Given the description of an element on the screen output the (x, y) to click on. 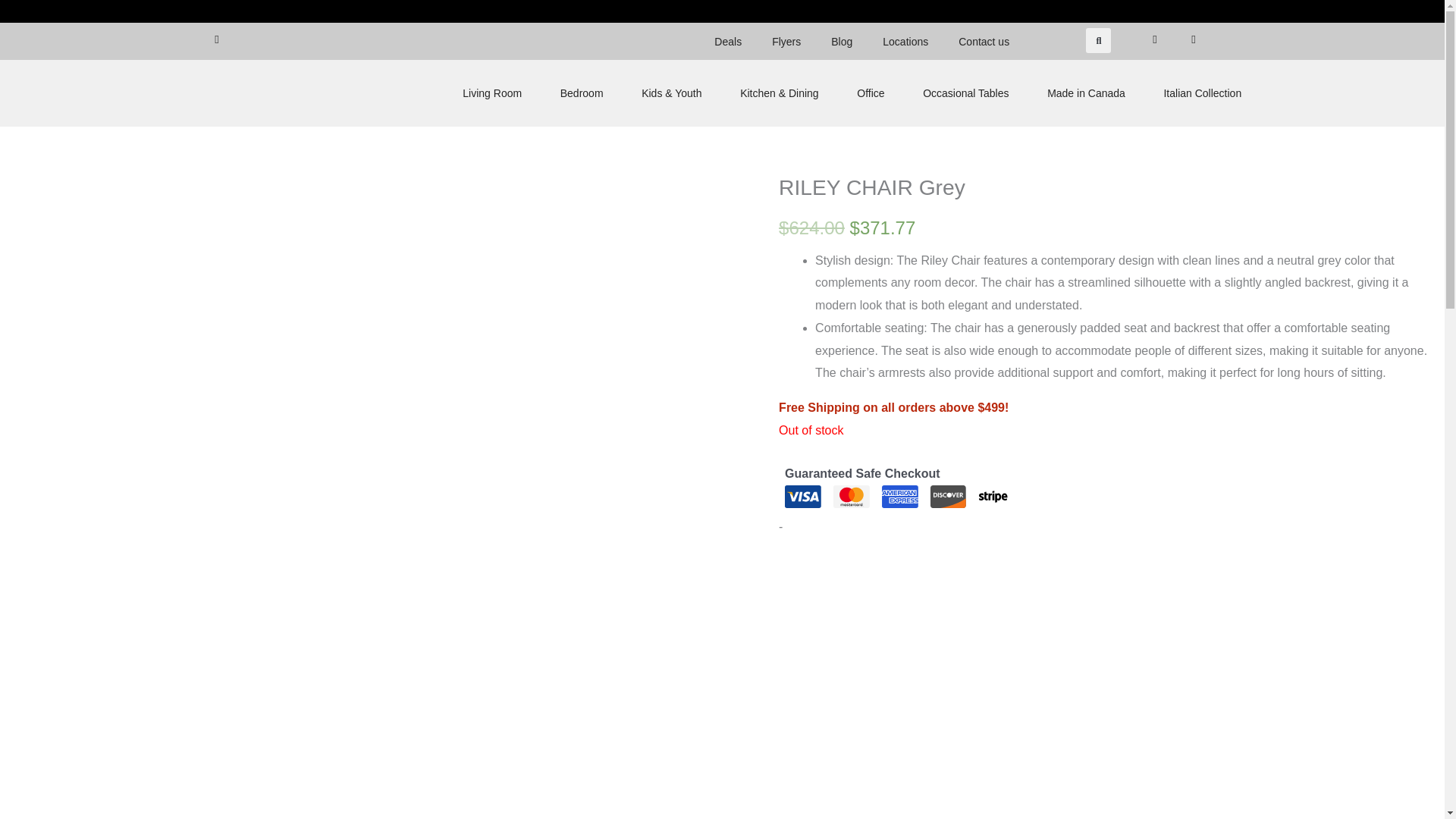
Locations (905, 41)
Contact us (984, 41)
Bedroom (580, 93)
Living Room (492, 93)
Flyers (786, 41)
Deals (727, 41)
Blog (841, 41)
